Given the description of an element on the screen output the (x, y) to click on. 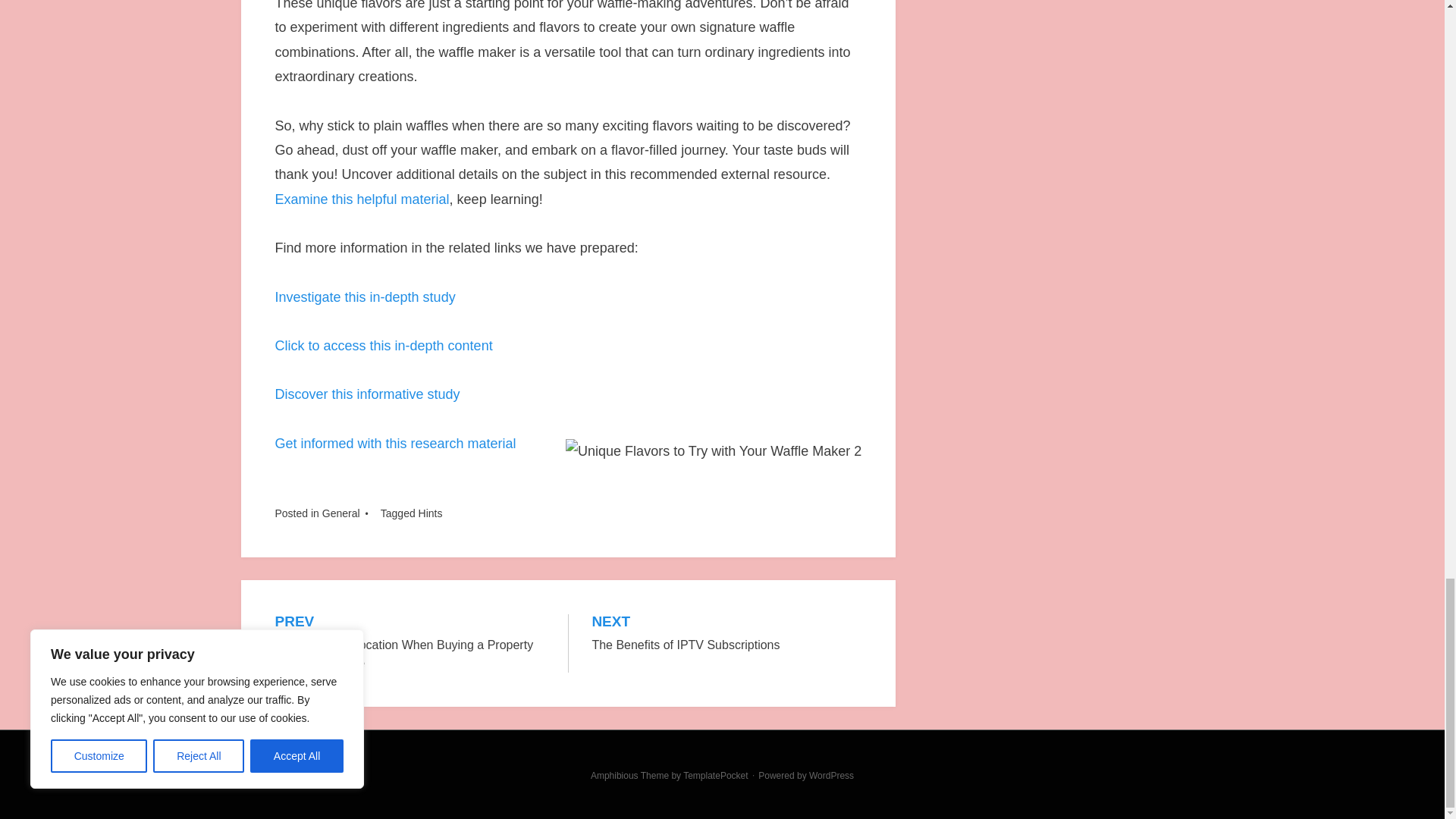
Get informed with this research material (395, 443)
Hints (726, 634)
TemplatePocket (430, 512)
WordPress (715, 775)
Investigate this in-depth study (831, 775)
Examine this helpful material (364, 296)
Click to access this in-depth content (361, 199)
General (383, 345)
Discover this informative study (340, 512)
